Given the description of an element on the screen output the (x, y) to click on. 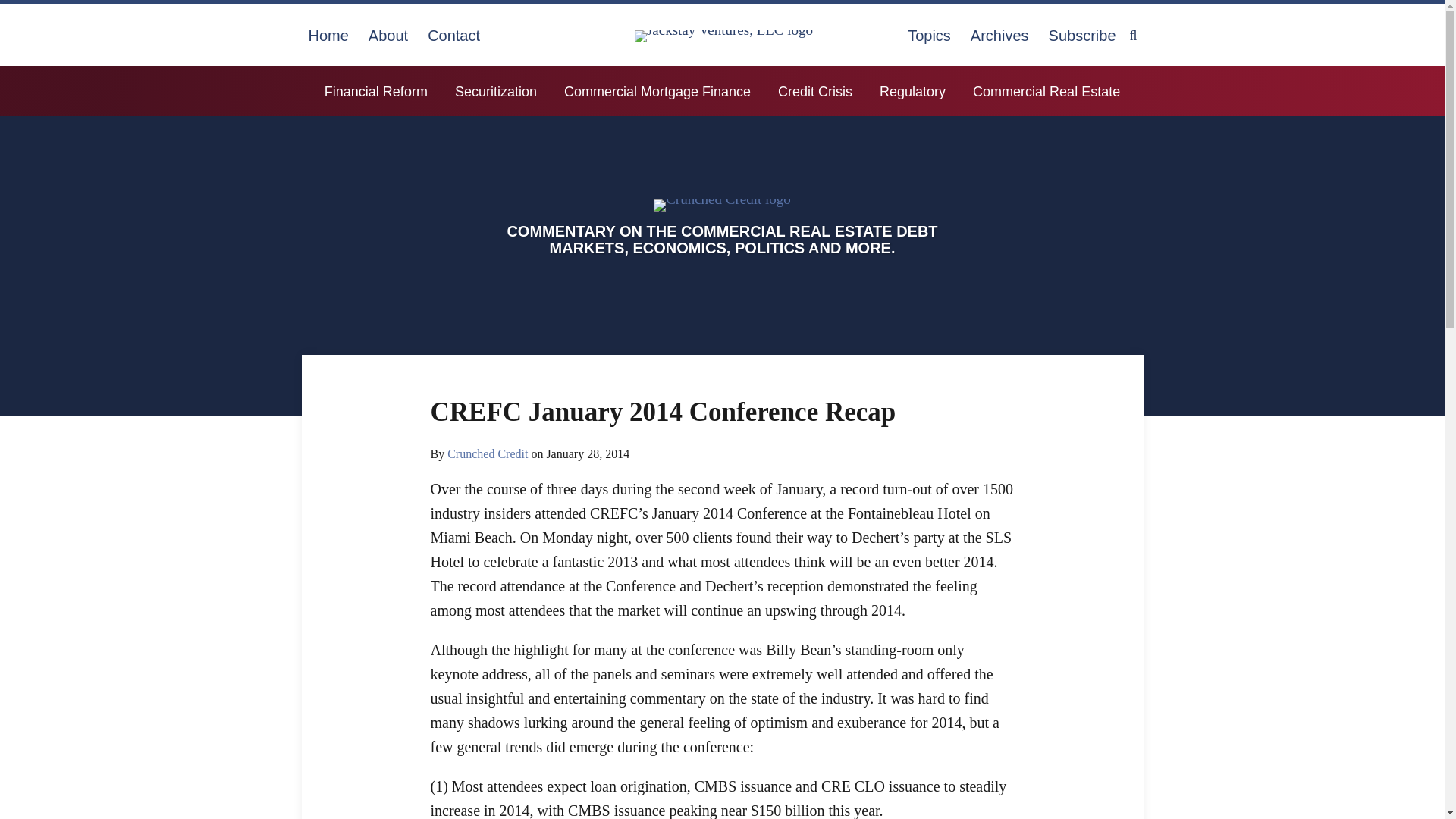
Contact (454, 35)
Archives (1000, 35)
Commercial Mortgage Finance (657, 91)
Crunched Credit (486, 453)
Securitization (495, 91)
Commercial Real Estate (1045, 91)
Credit Crisis (814, 91)
Topics (928, 35)
Subscribe (1082, 35)
About (387, 35)
